Given the description of an element on the screen output the (x, y) to click on. 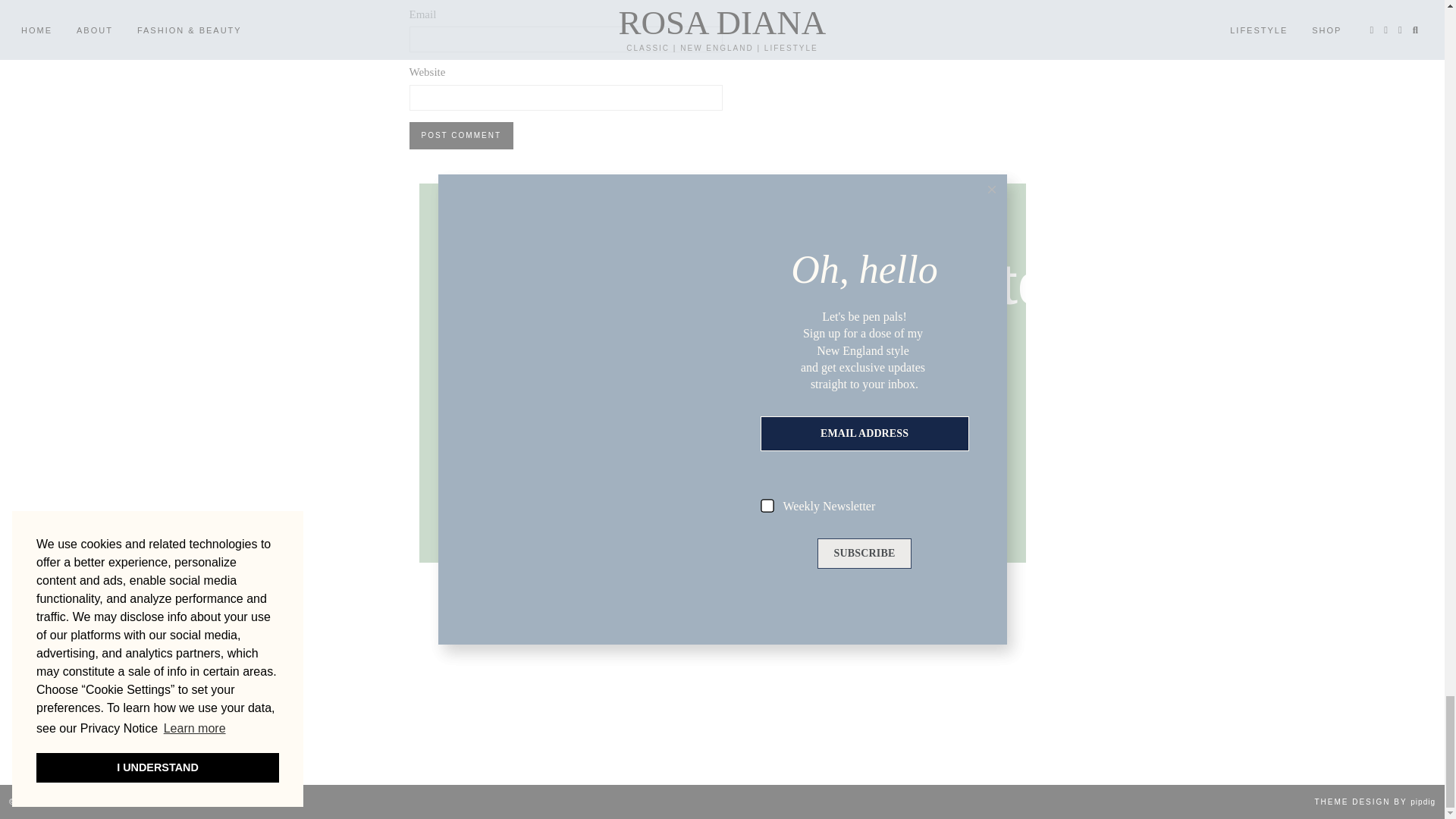
Post Comment (461, 135)
